Given the description of an element on the screen output the (x, y) to click on. 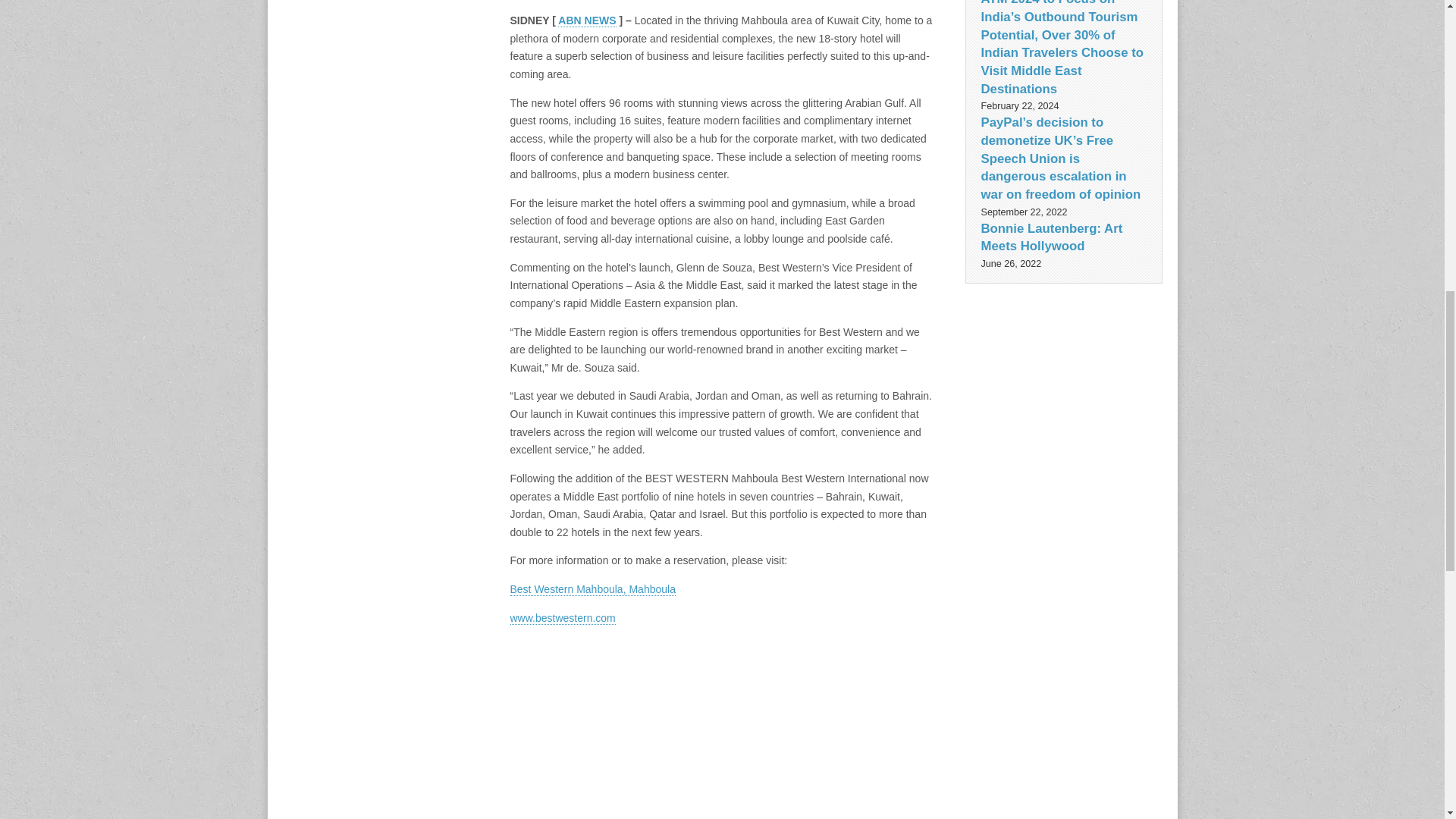
www.bestwestern.com (561, 617)
ABN NEWS (586, 20)
Best Western Mahboula, Mahboula (592, 589)
